Given the description of an element on the screen output the (x, y) to click on. 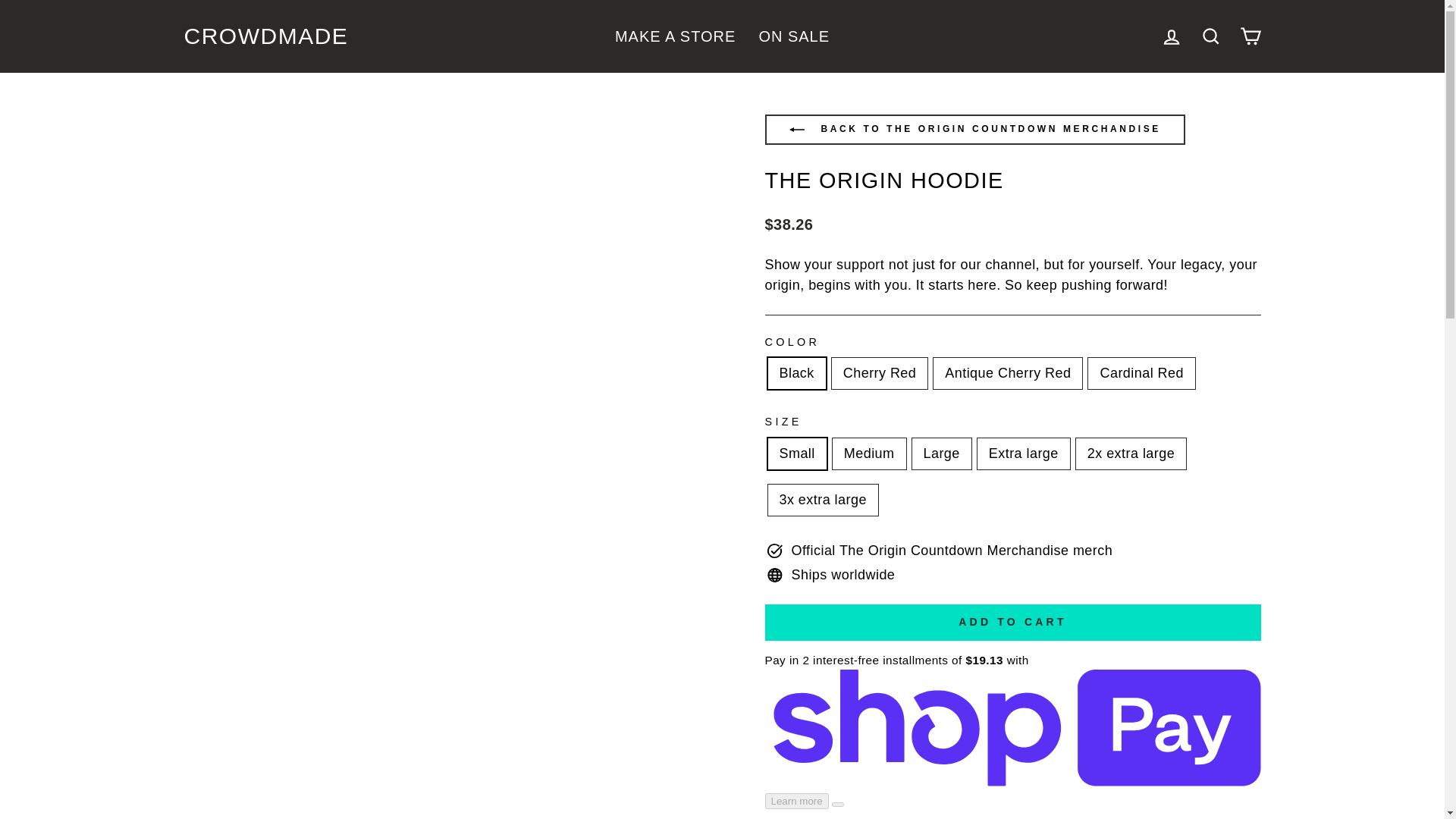
CART (1249, 35)
MAKE A STORE (675, 35)
ADD TO CART (1012, 622)
CROWDMADE (265, 35)
ON SALE (793, 35)
SEARCH (1210, 35)
LOG IN (1171, 35)
